Given the description of an element on the screen output the (x, y) to click on. 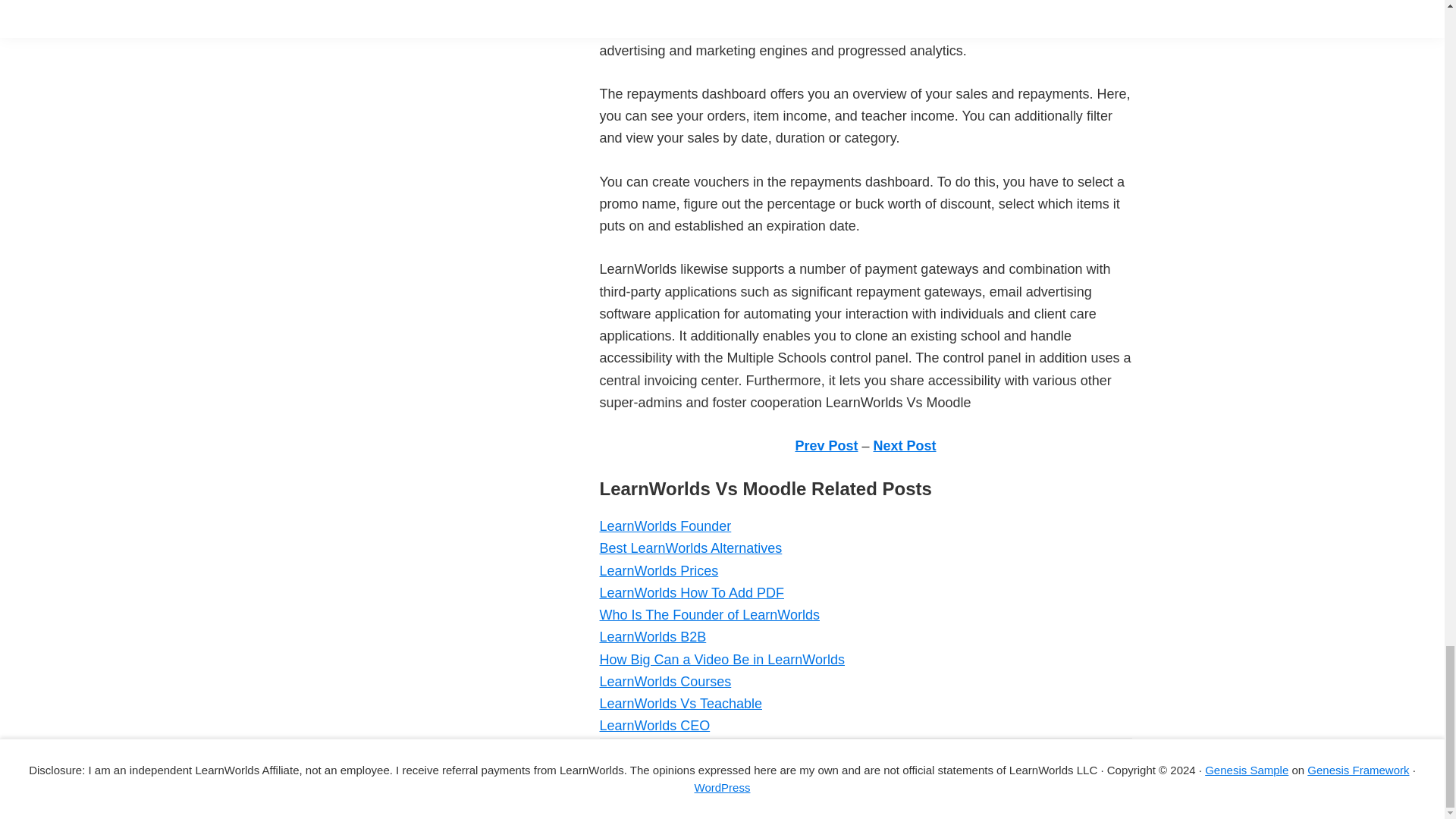
LearnWorlds Founder (664, 525)
LearnWorlds CEO (654, 725)
How Big Can a Video Be in LearnWorlds (721, 659)
How Big Can a Video Be in LearnWorlds (721, 659)
LearnWorlds Courses (664, 681)
LearnWorlds B2B (652, 636)
LearnWorlds B2B (652, 636)
LearnWorlds How To Add PDF (690, 592)
Prev Post (825, 445)
LearnWorlds Vs Teachable (679, 703)
